Given the description of an element on the screen output the (x, y) to click on. 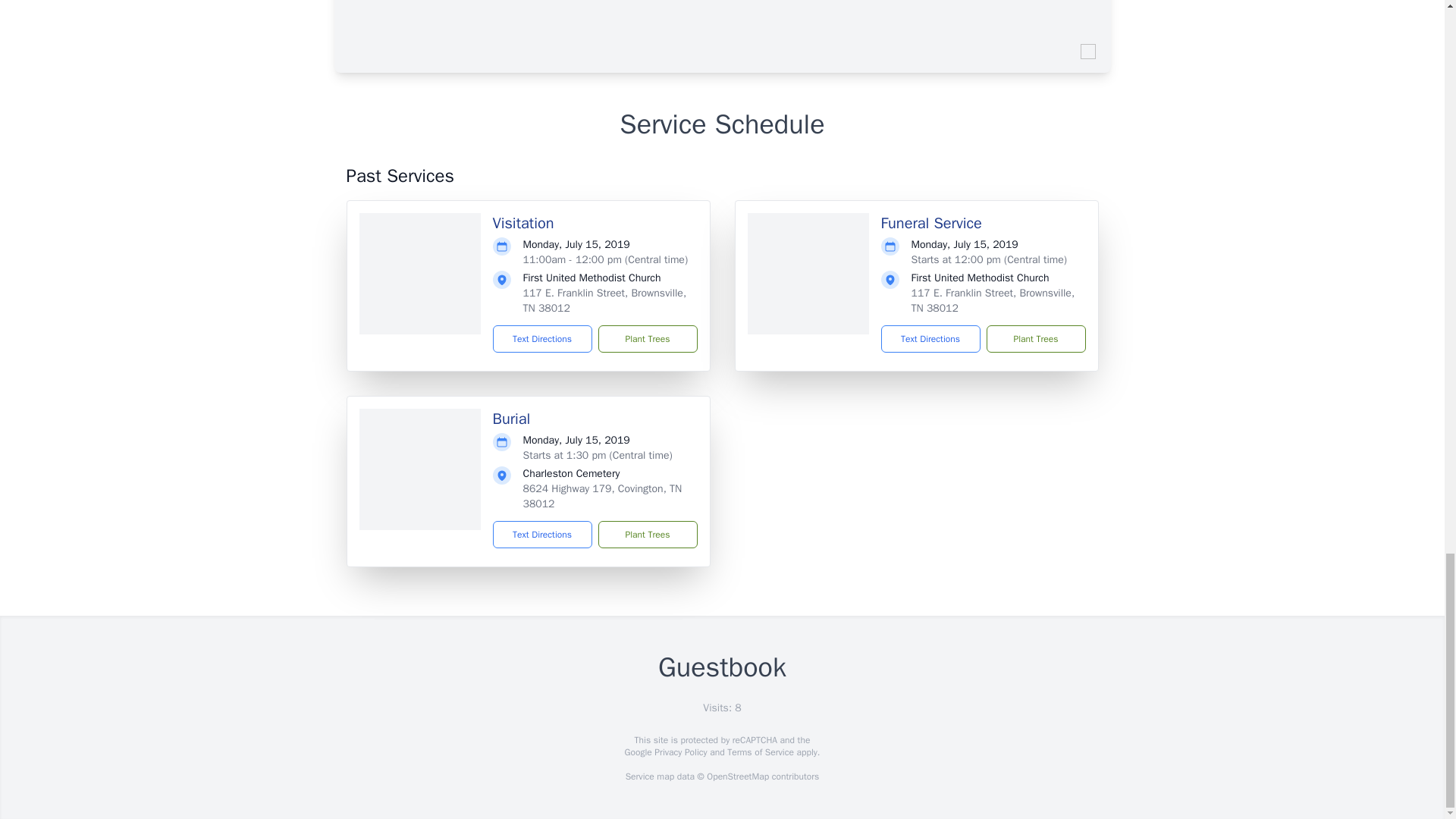
Text Directions (542, 338)
Text Directions (929, 338)
Plant Trees (646, 533)
Text Directions (542, 533)
117 E. Franklin Street, Brownsville, TN 38012 (993, 300)
Terms of Service (759, 752)
Plant Trees (646, 338)
117 E. Franklin Street, Brownsville, TN 38012 (604, 300)
OpenStreetMap (737, 776)
Plant Trees (1034, 338)
Privacy Policy (679, 752)
8624 Highway 179, Covington, TN 38012 (602, 496)
